Given the description of an element on the screen output the (x, y) to click on. 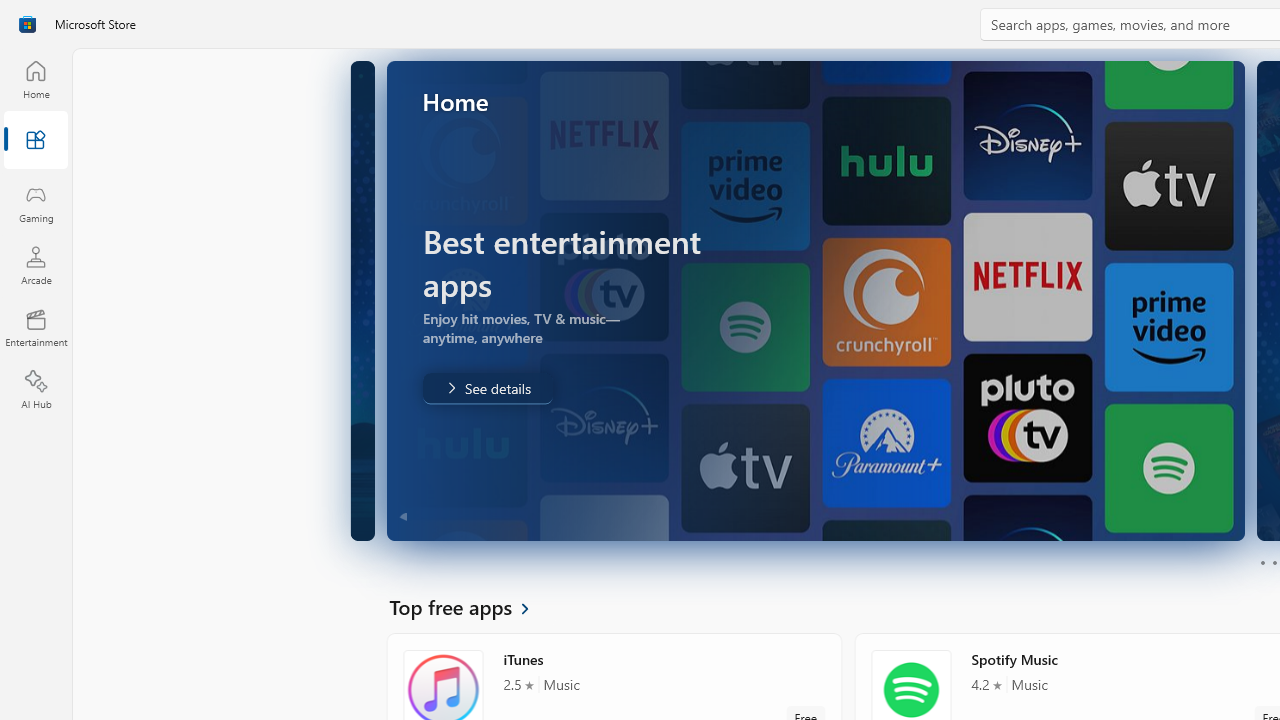
Home (35, 79)
Entertainment (35, 327)
AI Hub (35, 390)
See all  Top free apps (471, 606)
Gaming (35, 203)
Page 1 (1261, 562)
Arcade (35, 265)
Apps (35, 141)
AutomationID: Image (815, 300)
Class: Image (27, 24)
Page 2 (1274, 562)
